Given the description of an element on the screen output the (x, y) to click on. 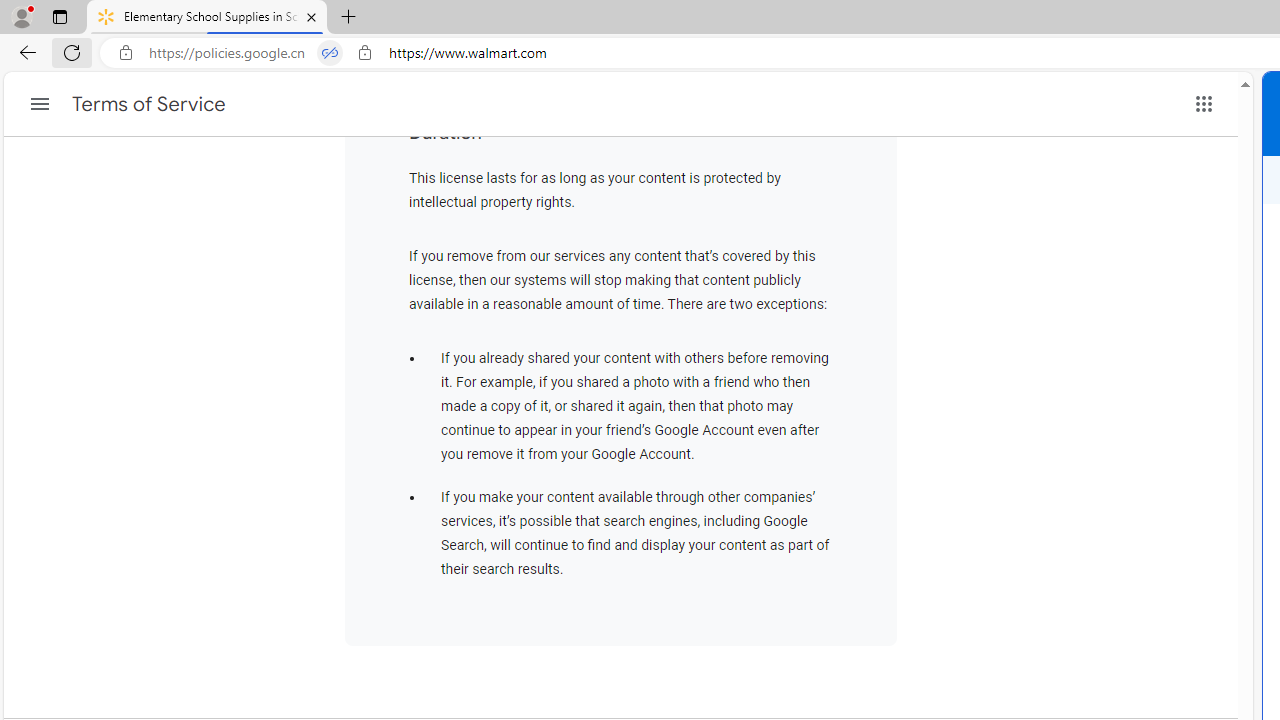
Tabs in split screen (330, 53)
